Given the description of an element on the screen output the (x, y) to click on. 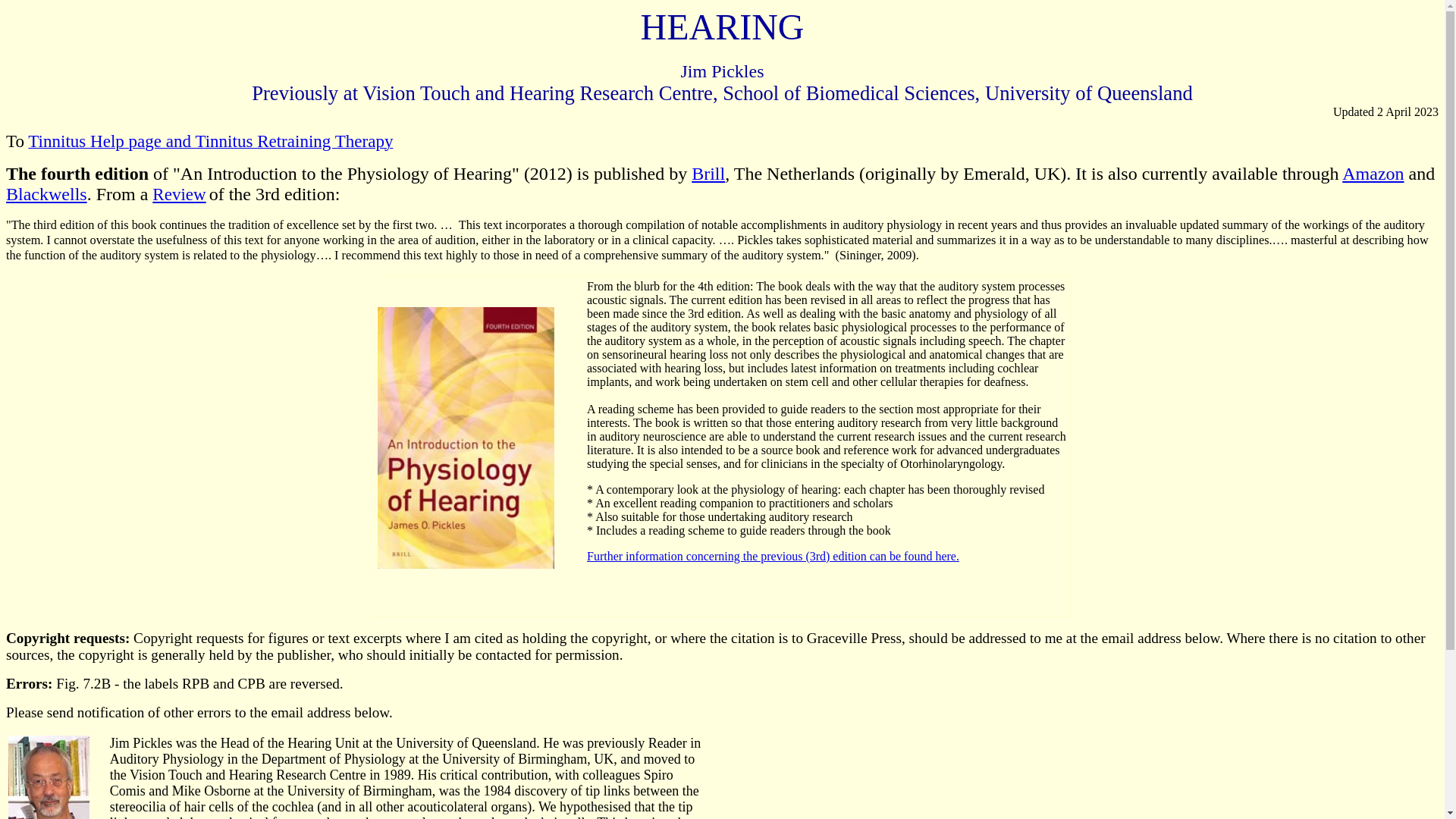
Brill Element type: text (707, 173)
Review Element type: text (178, 193)
Tinnitus Help page and Tinnitus Retraining Therapy Element type: text (210, 142)
Amazon Element type: text (1372, 173)
Blackwells Element type: text (46, 193)
